Given the description of an element on the screen output the (x, y) to click on. 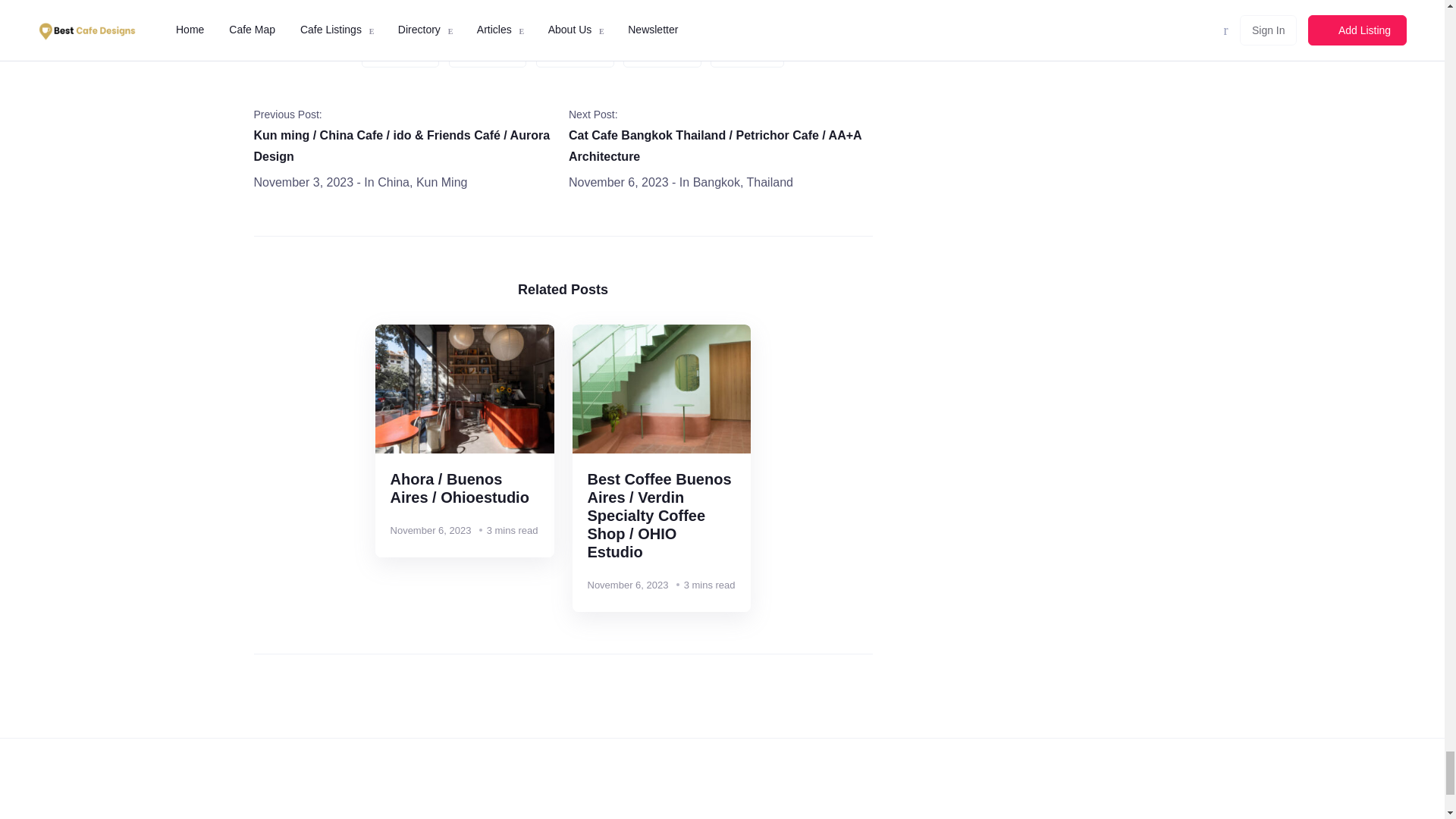
Copy to clipboard (747, 53)
